Given the description of an element on the screen output the (x, y) to click on. 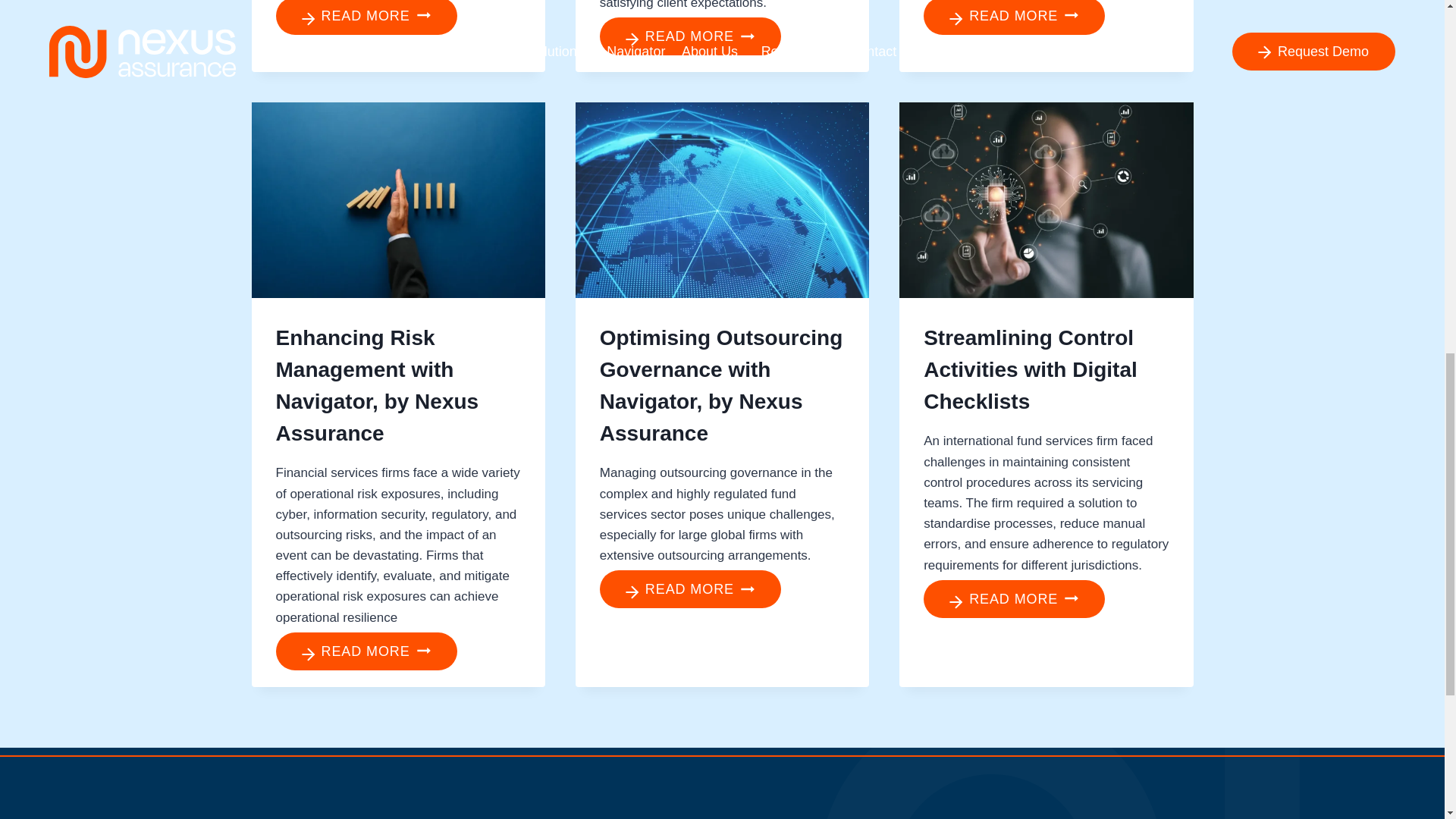
Enhancing Risk Management with Navigator, by Nexus Assurance (377, 385)
